Given the description of an element on the screen output the (x, y) to click on. 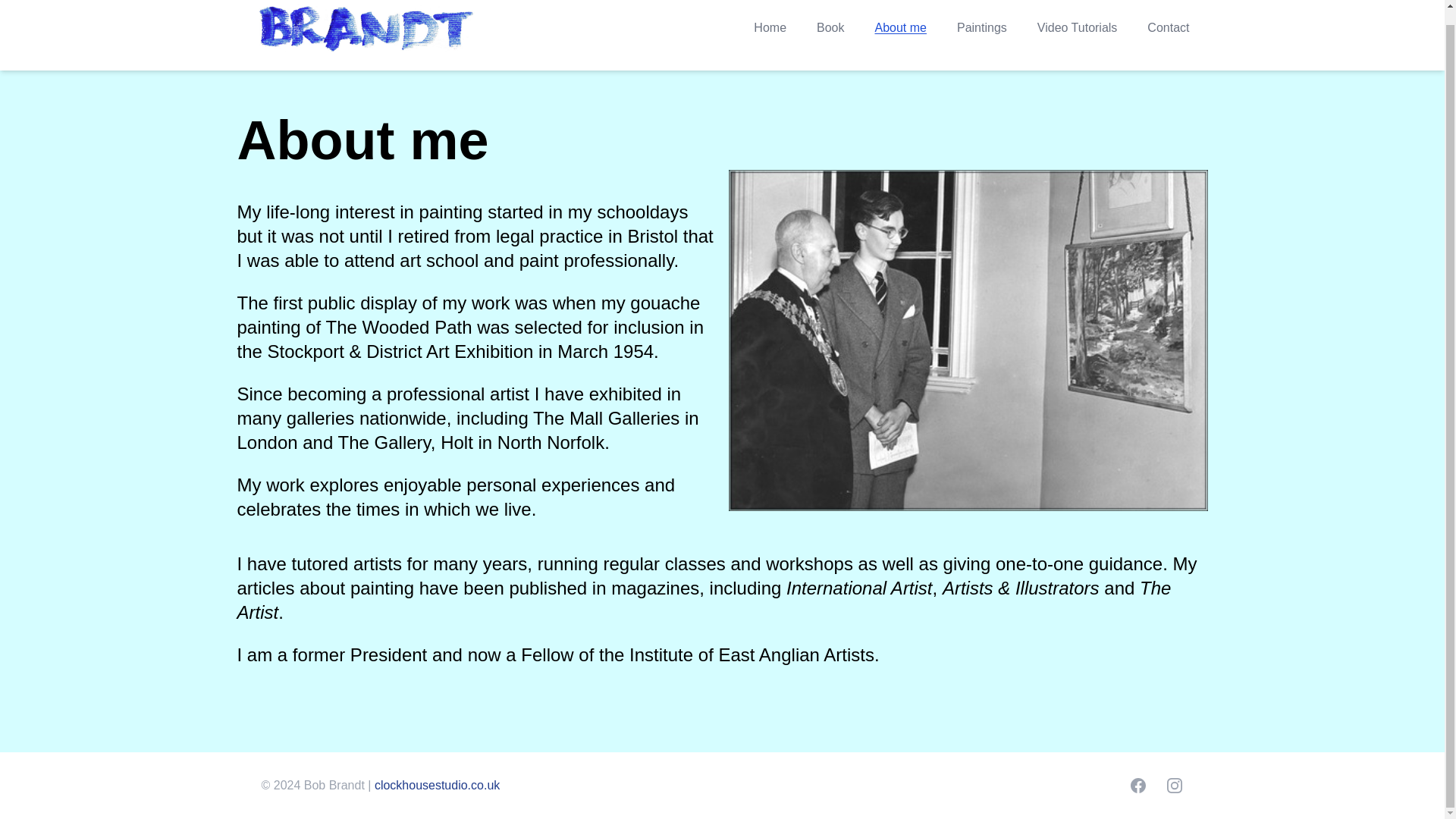
Paintings (981, 27)
Bob Brandt (365, 28)
Home (770, 27)
clockhousestudio.co.uk (436, 784)
About me (900, 27)
Facebook (1137, 785)
Video Tutorials (1077, 27)
Instagram (1173, 785)
Book (830, 27)
Contact (1168, 27)
